Given the description of an element on the screen output the (x, y) to click on. 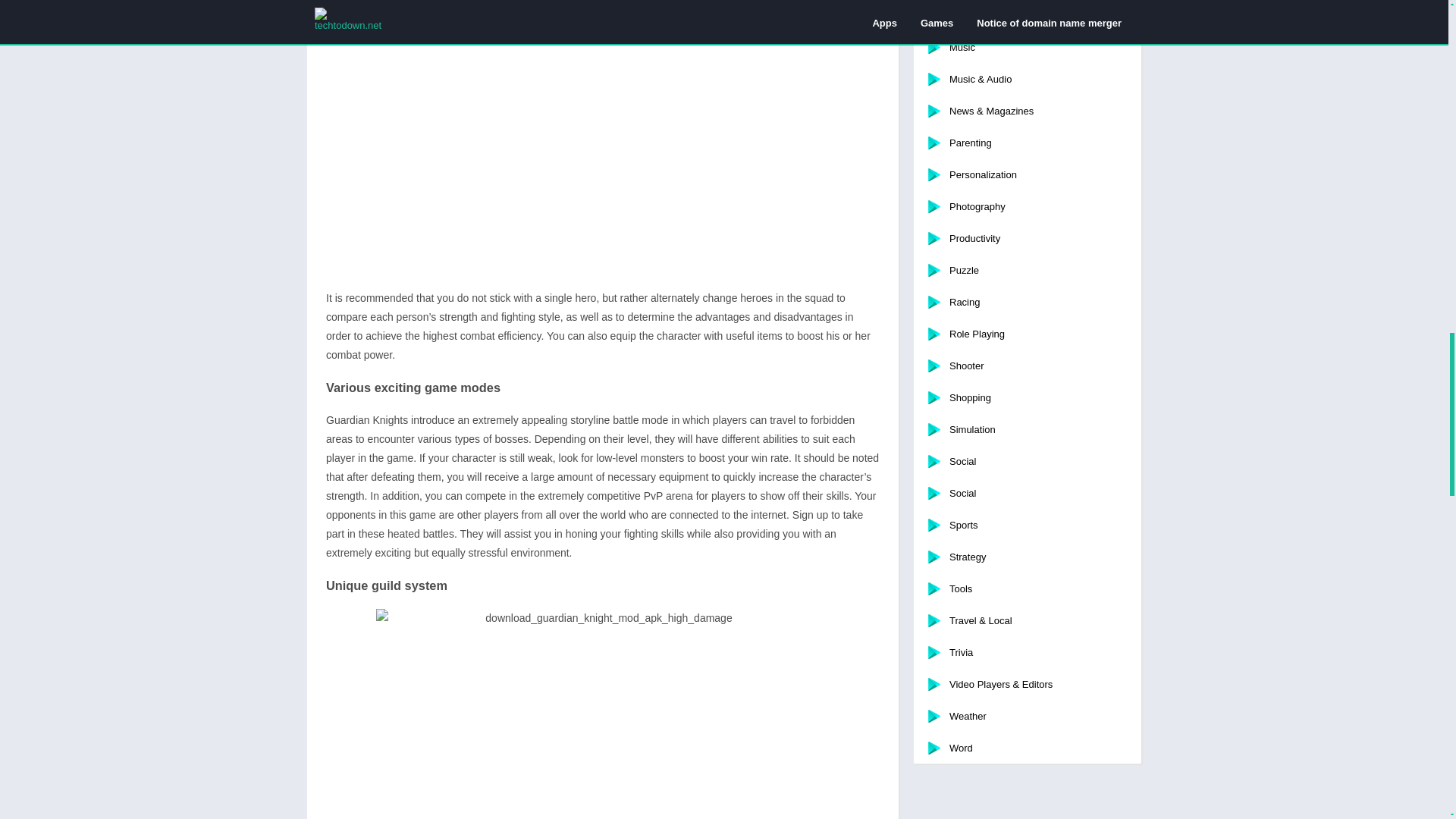
Guardian Knights 4 (602, 714)
Guardian Knights 3 (602, 149)
